Given the description of an element on the screen output the (x, y) to click on. 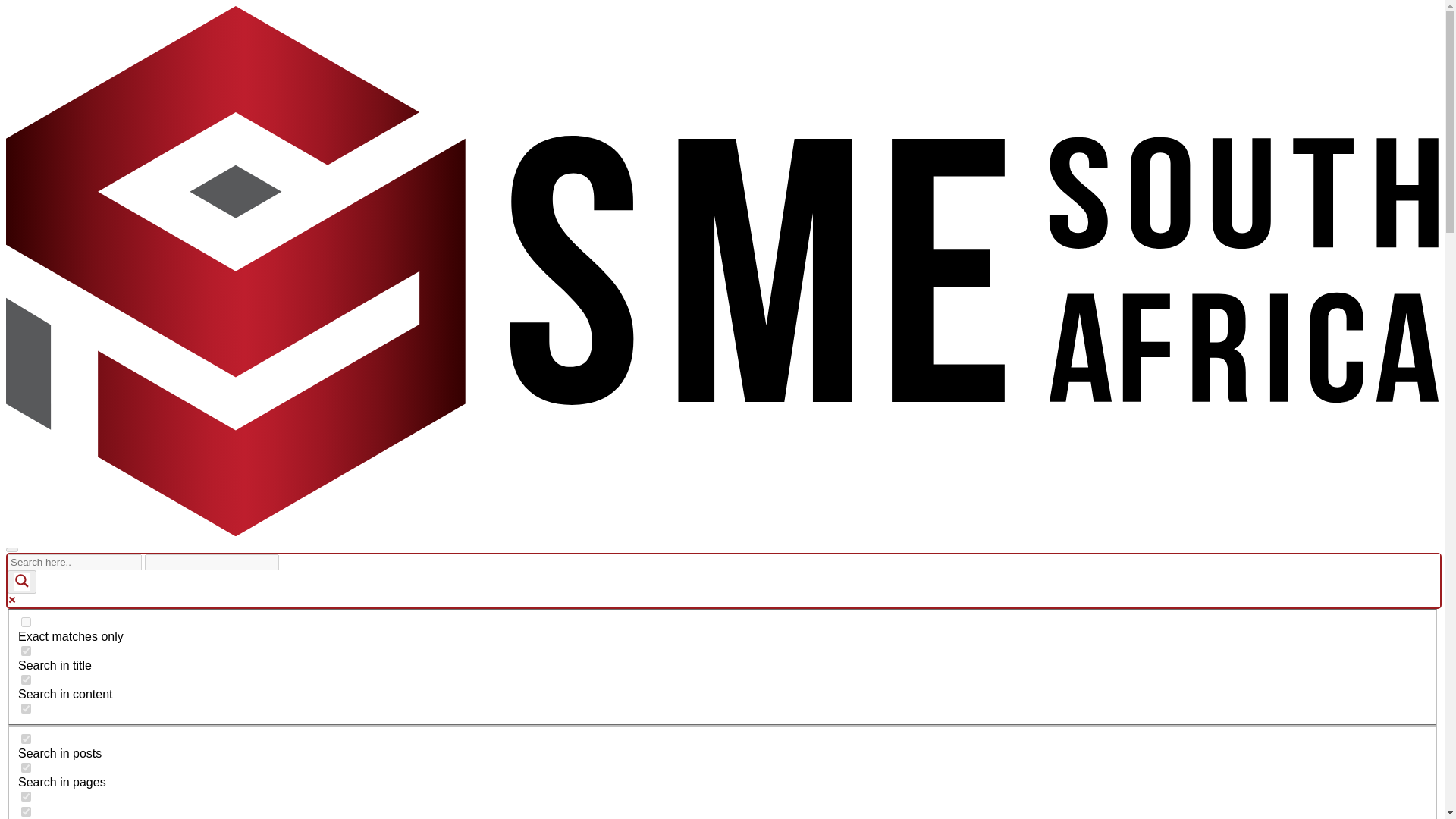
exact (25, 622)
content (25, 679)
title (25, 651)
page (25, 767)
Start search (288, 556)
resources (25, 796)
post (25, 738)
reviews (25, 811)
excerpt (25, 708)
